Given the description of an element on the screen output the (x, y) to click on. 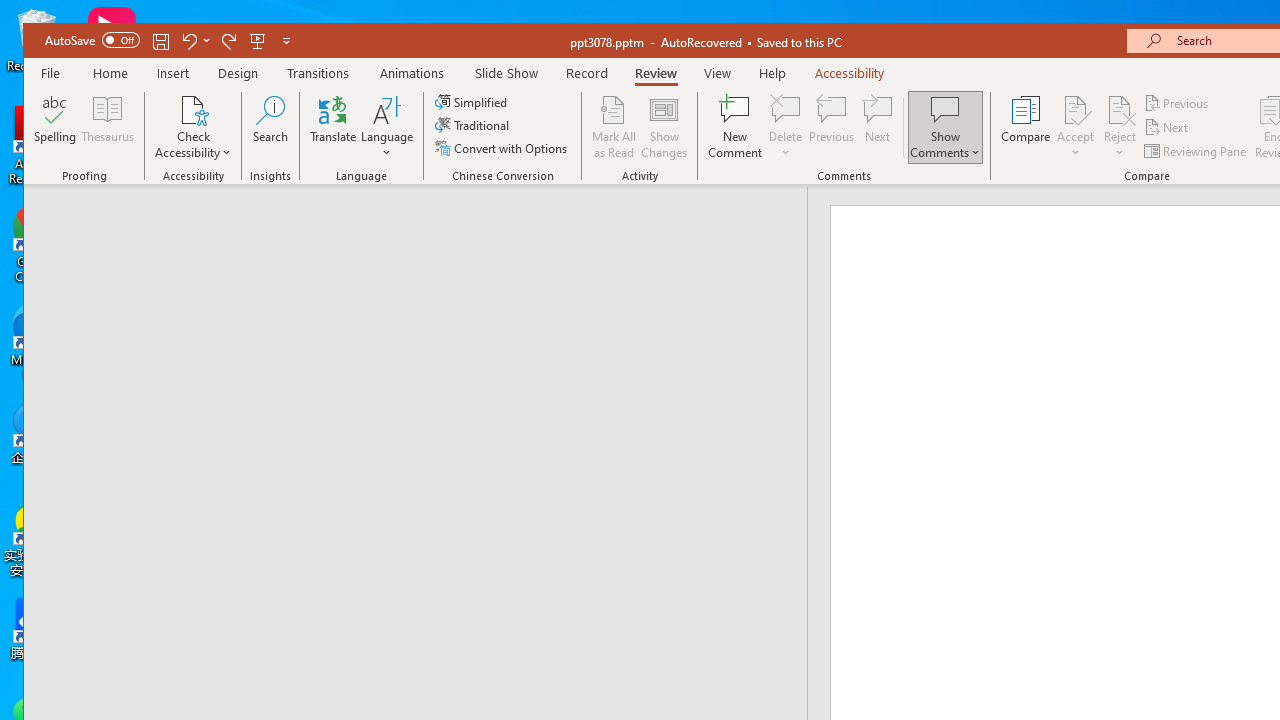
Customize Quick Access Toolbar (286, 40)
View (717, 73)
Reject (1119, 127)
Check Accessibility (193, 127)
Outline (424, 226)
Save (161, 40)
Mark All as Read (614, 127)
Help (773, 73)
File Tab (51, 72)
New Comment (735, 127)
Previous (1177, 103)
AutoSave (91, 39)
Search (270, 127)
